Given the description of an element on the screen output the (x, y) to click on. 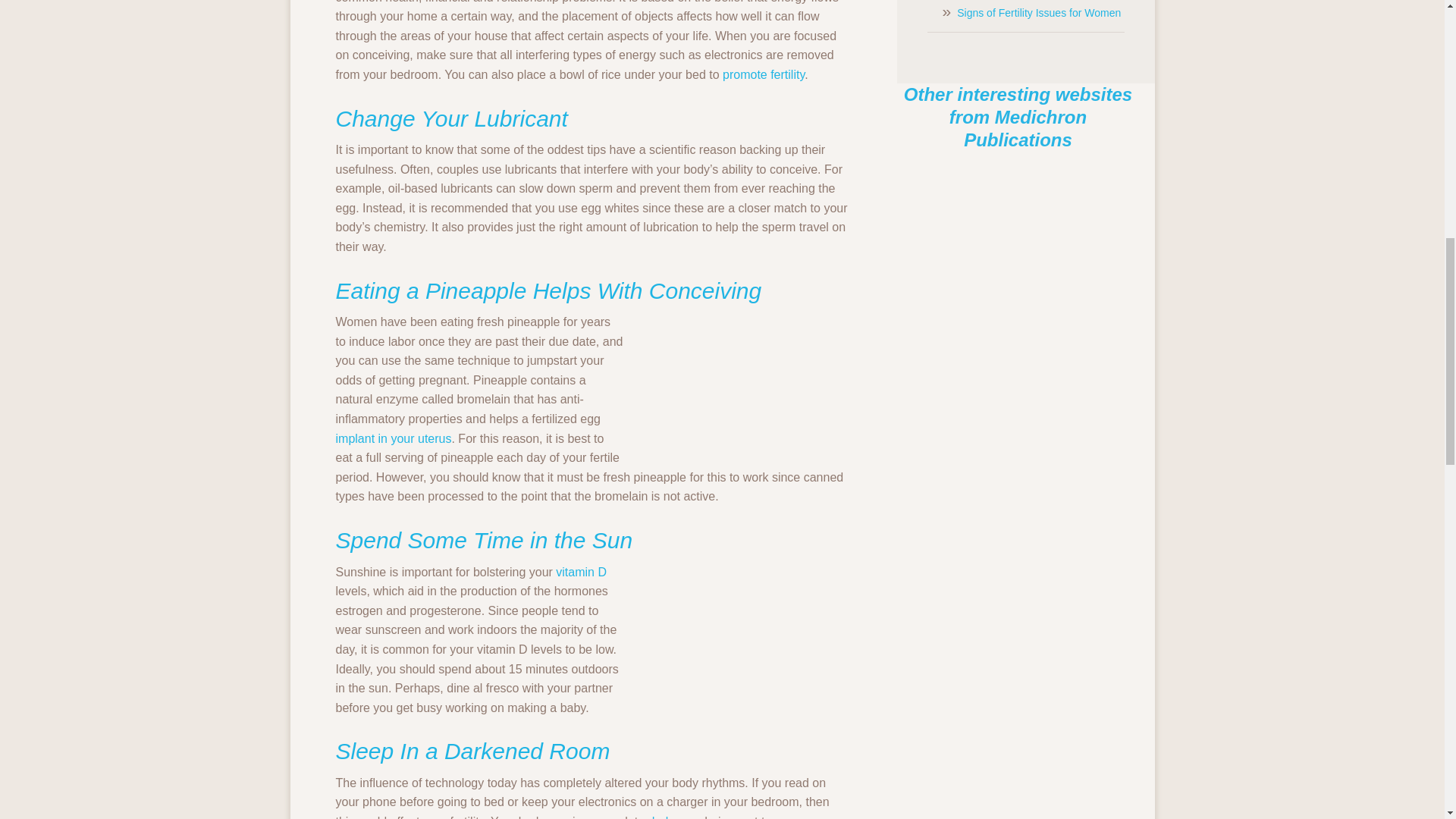
implant in your uterus (392, 438)
darkness (672, 816)
vitamin D (581, 571)
promote fertility (763, 74)
